Given the description of an element on the screen output the (x, y) to click on. 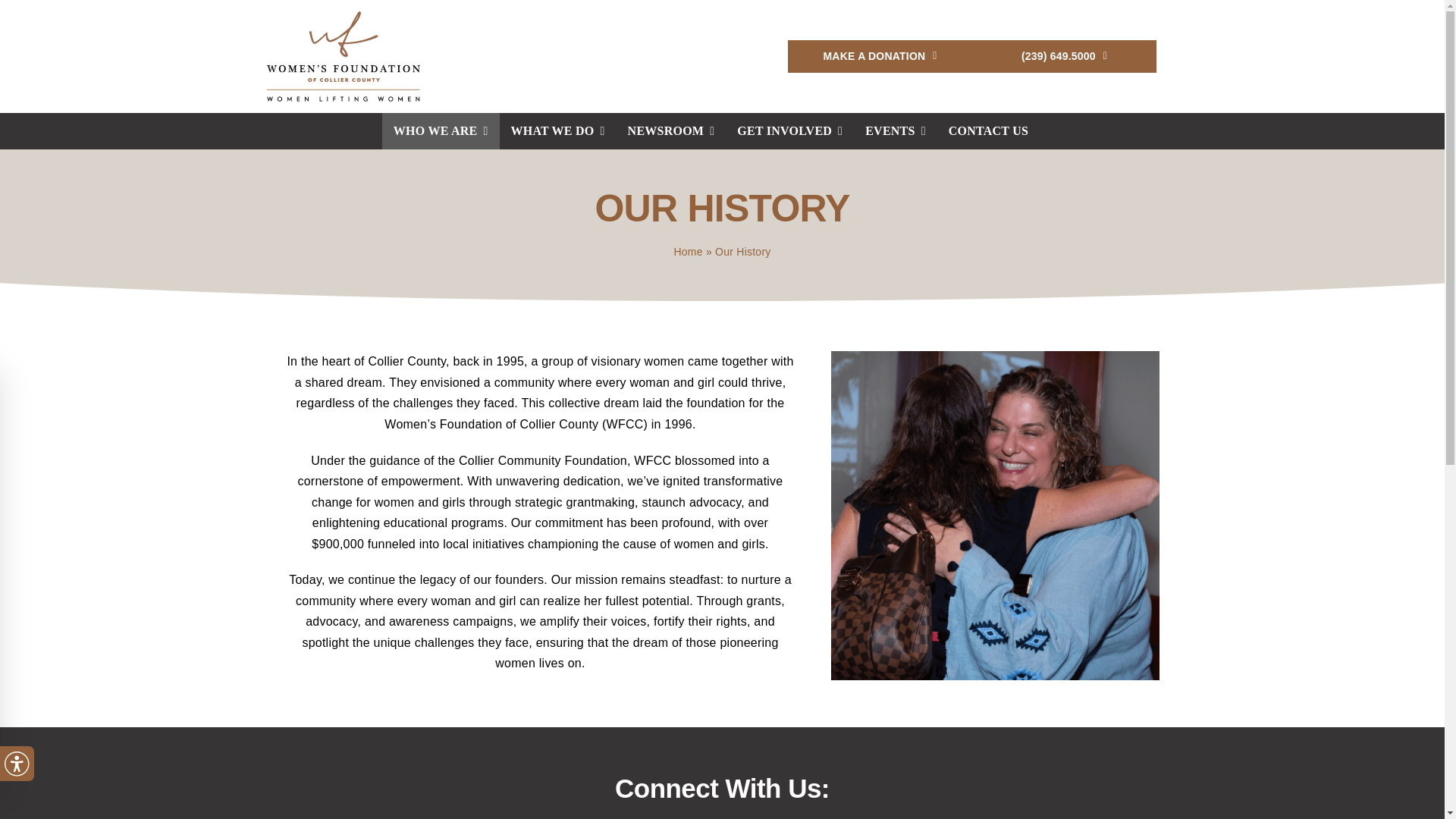
GET INVOLVED (789, 131)
Home (686, 251)
EVENTS (895, 131)
NEWSROOM (670, 131)
CONTACT US (988, 131)
WHAT WE DO (557, 131)
WHO WE ARE (440, 131)
MAKE A DONATION (879, 56)
